Given the description of an element on the screen output the (x, y) to click on. 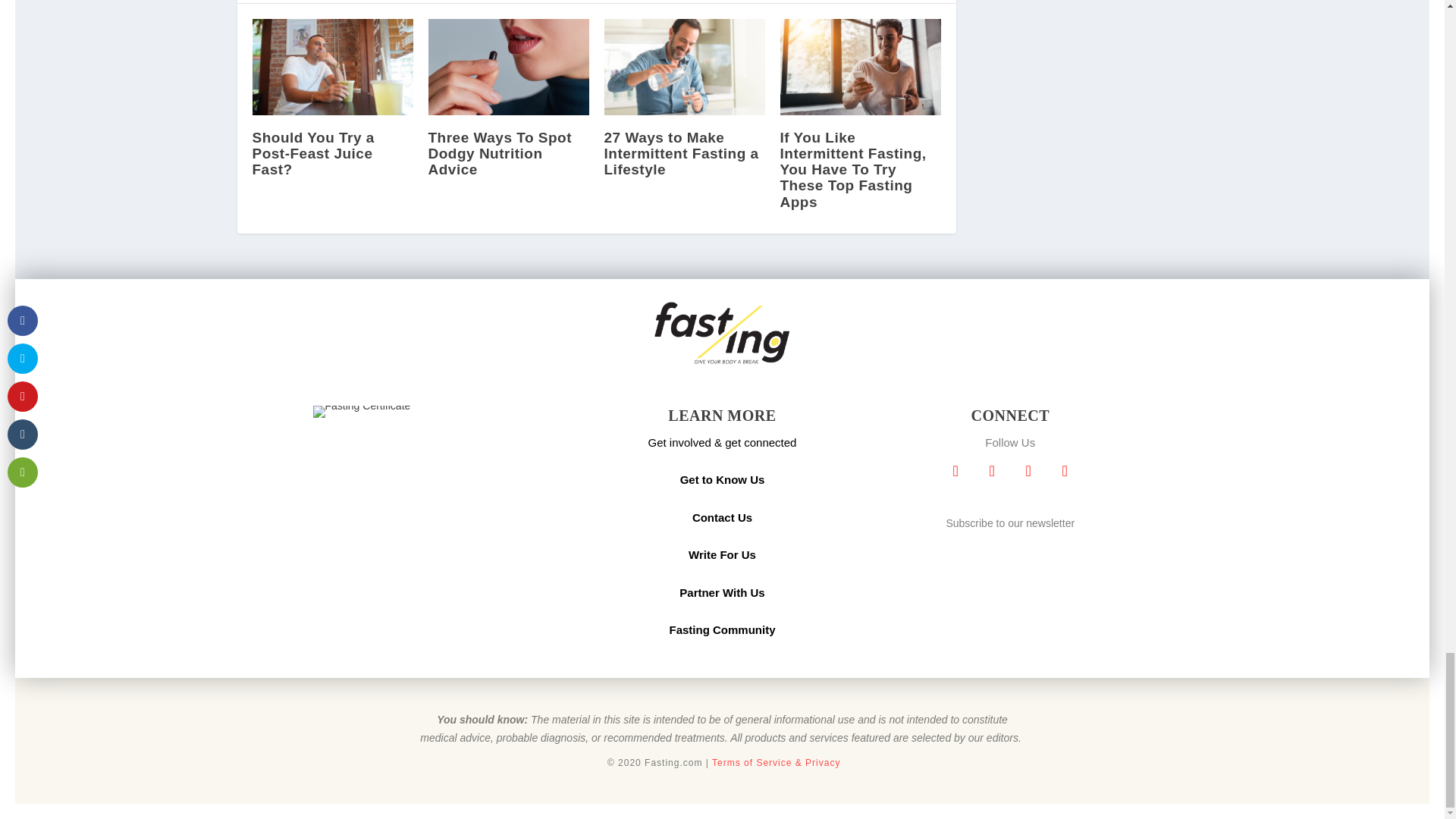
Should You Try a Post-Feast Juice Fast? (331, 66)
Three Ways To Spot Dodgy Nutrition Advice (508, 66)
27 Ways to Make Intermittent Fasting a Lifestyle (684, 66)
